Given the description of an element on the screen output the (x, y) to click on. 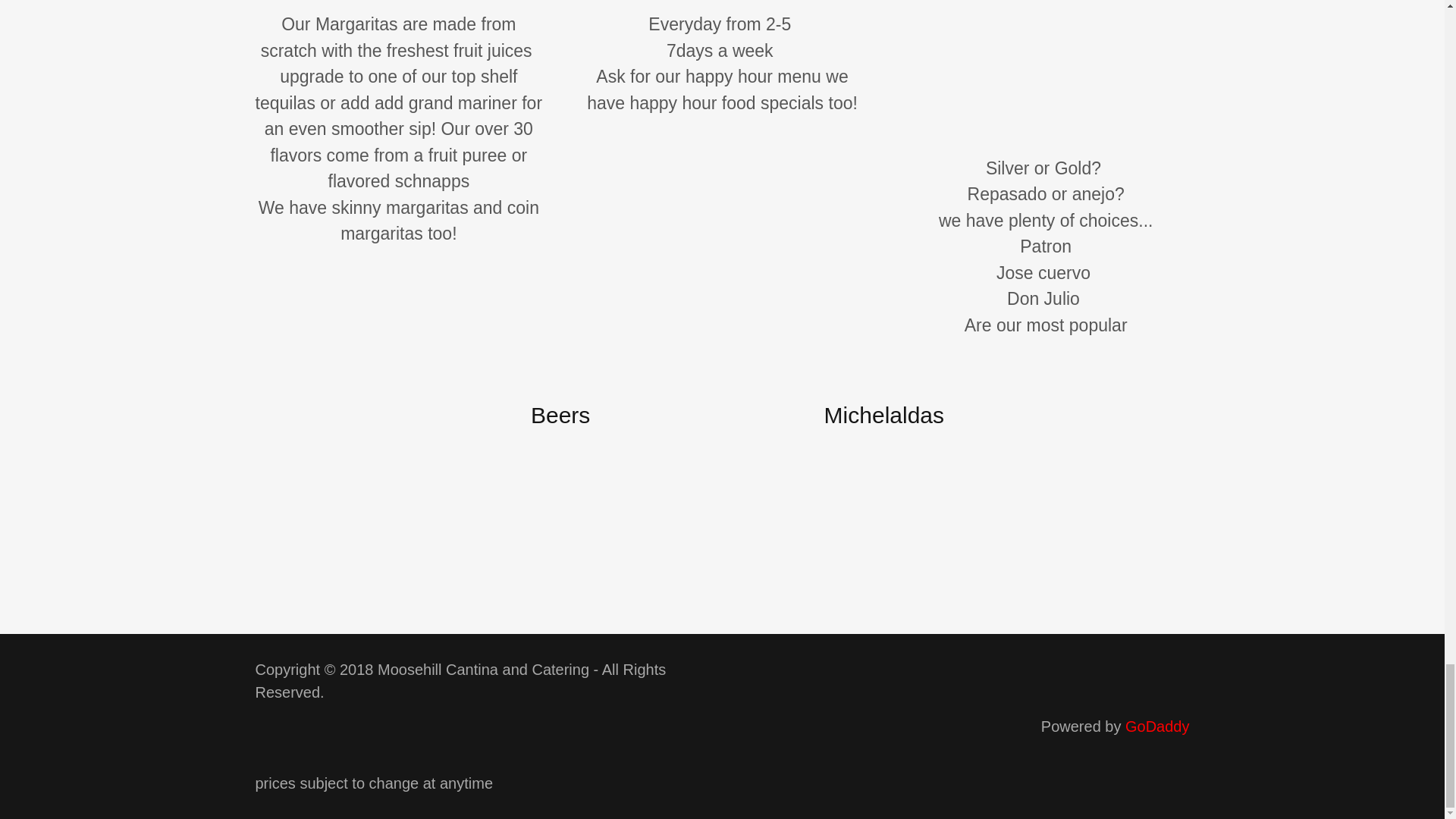
GoDaddy (1157, 726)
